Given the description of an element on the screen output the (x, y) to click on. 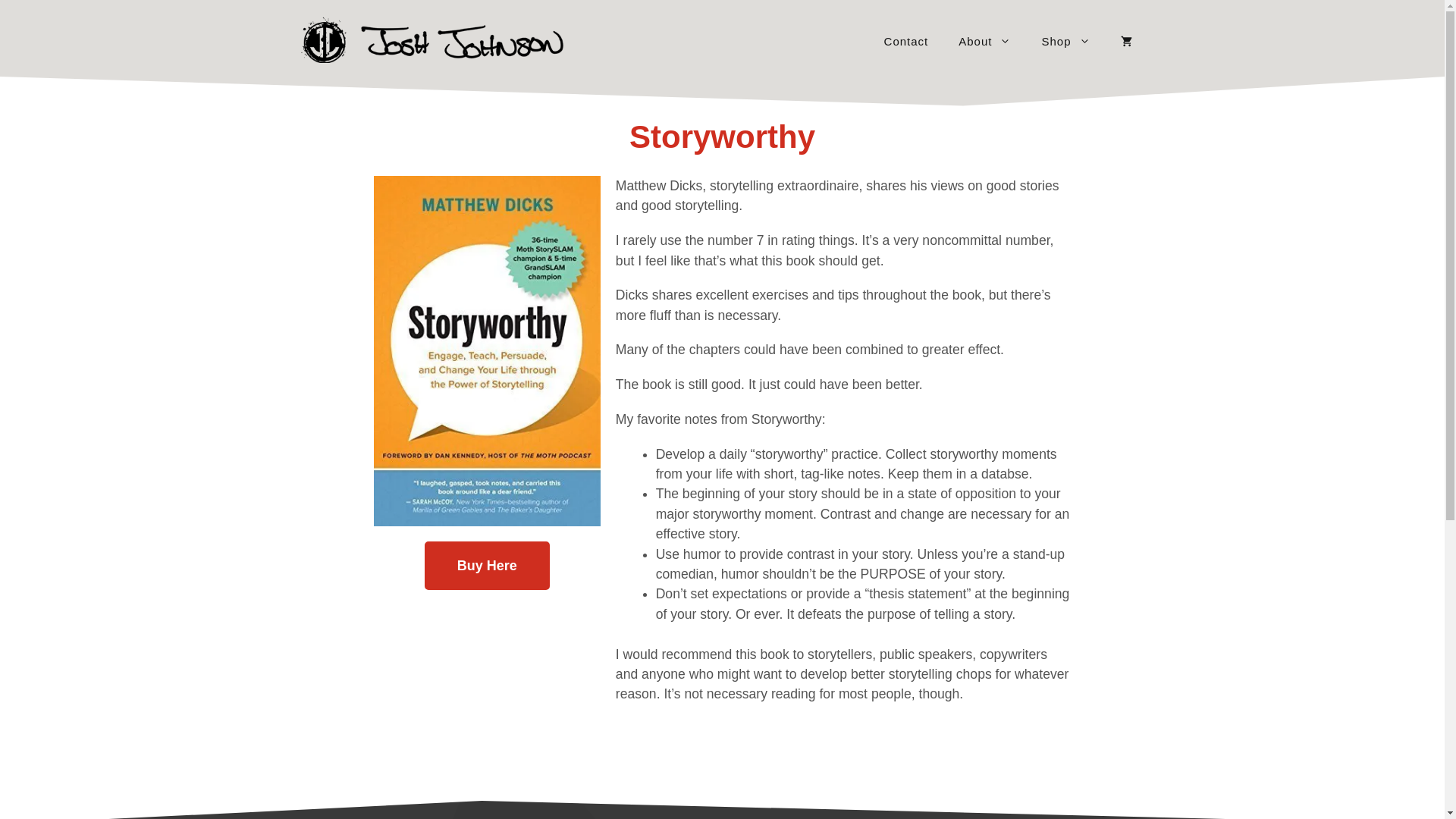
Shop (1065, 41)
About (984, 41)
View your shopping cart (1126, 41)
Buy Here (487, 565)
Contact (906, 41)
